Given the description of an element on the screen output the (x, y) to click on. 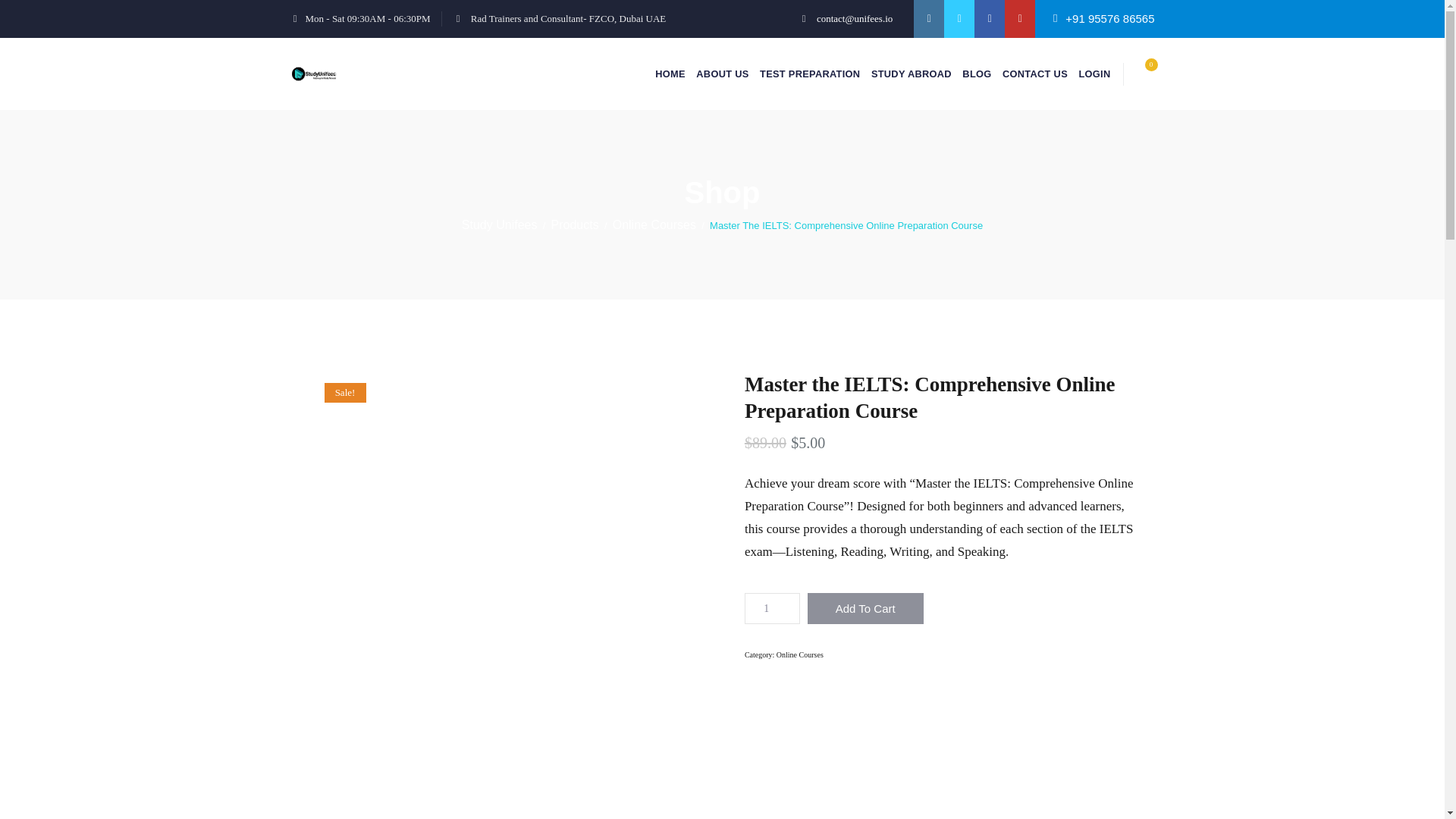
Go to Products. (574, 224)
Online Courses (800, 654)
Go to the Online Courses Category archives. (653, 224)
0 (1142, 74)
Study Unifees (499, 224)
Go to Study Unifees. (499, 224)
CONTACT US (1034, 73)
1 (771, 608)
Add To Cart (865, 608)
TEST PREPARATION (809, 73)
